Given the description of an element on the screen output the (x, y) to click on. 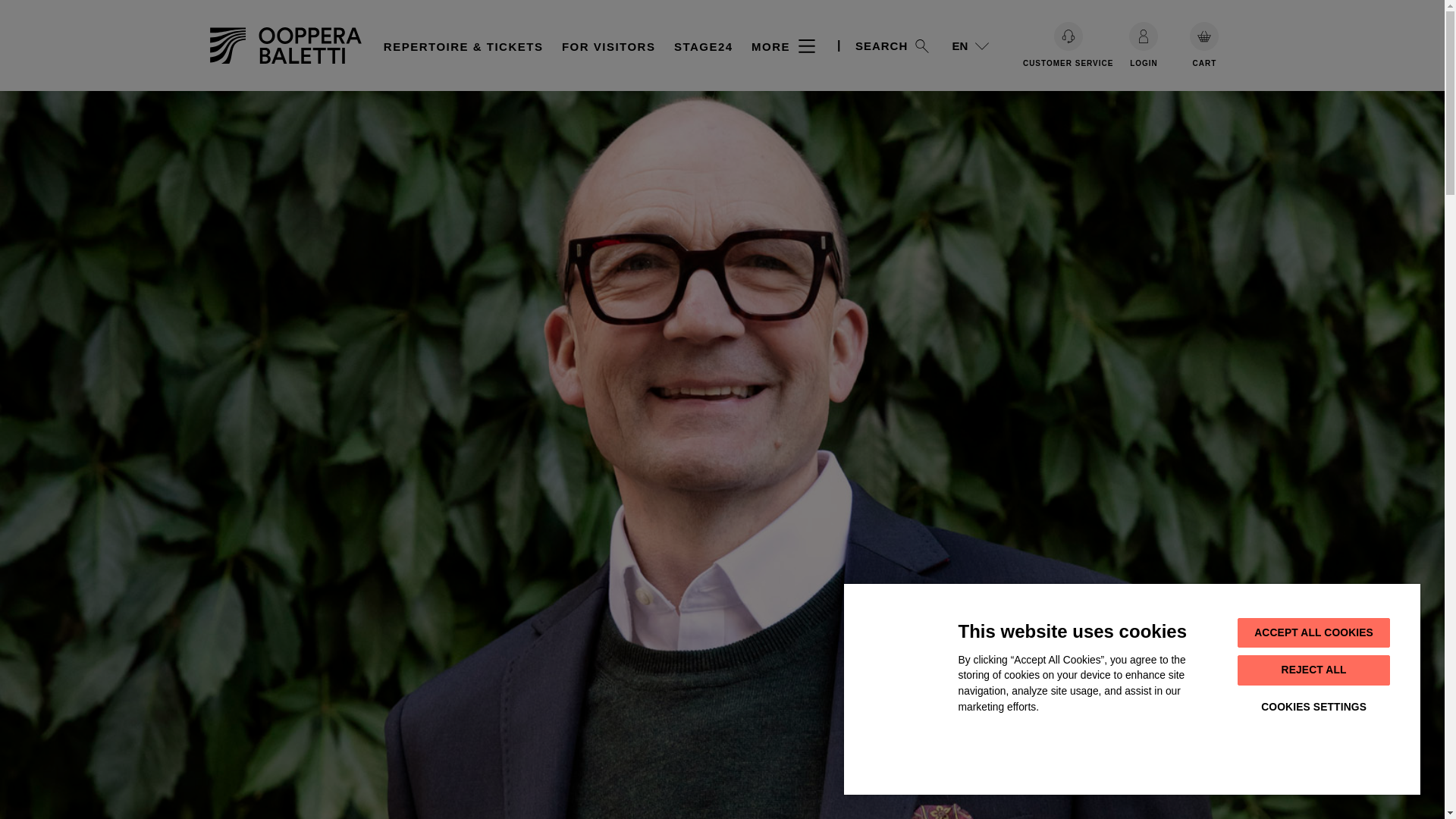
STAGE24 (703, 46)
MORE (783, 44)
FOR VISITORS (609, 46)
